Given the description of an element on the screen output the (x, y) to click on. 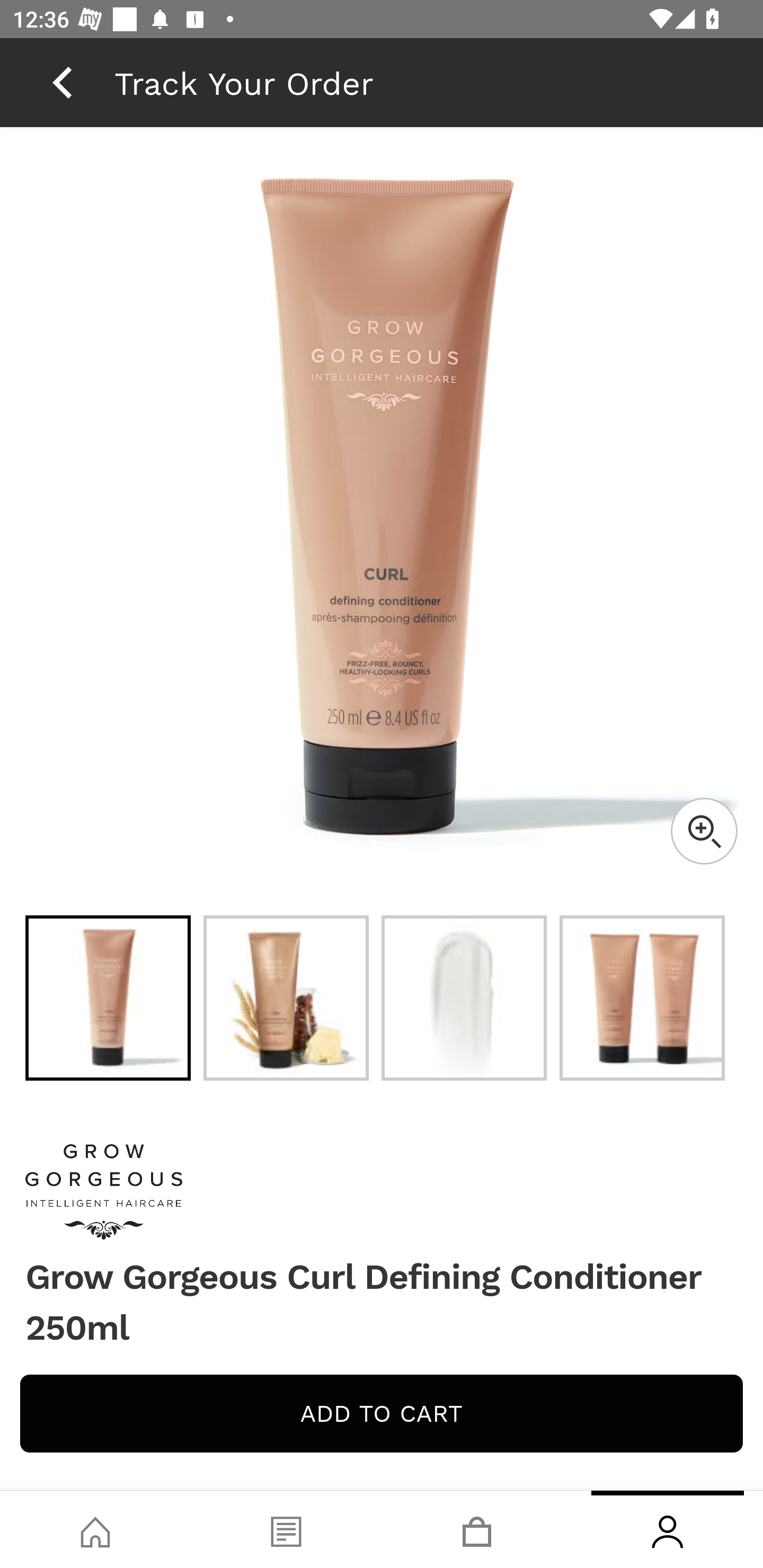
back (61, 82)
Zoom (703, 830)
Grow Gorgeous (381, 1192)
Add to cart (381, 1413)
Shop, tab, 1 of 4 (95, 1529)
Blog, tab, 2 of 4 (285, 1529)
Basket, tab, 3 of 4 (476, 1529)
Account, tab, 4 of 4 (667, 1529)
